Given the description of an element on the screen output the (x, y) to click on. 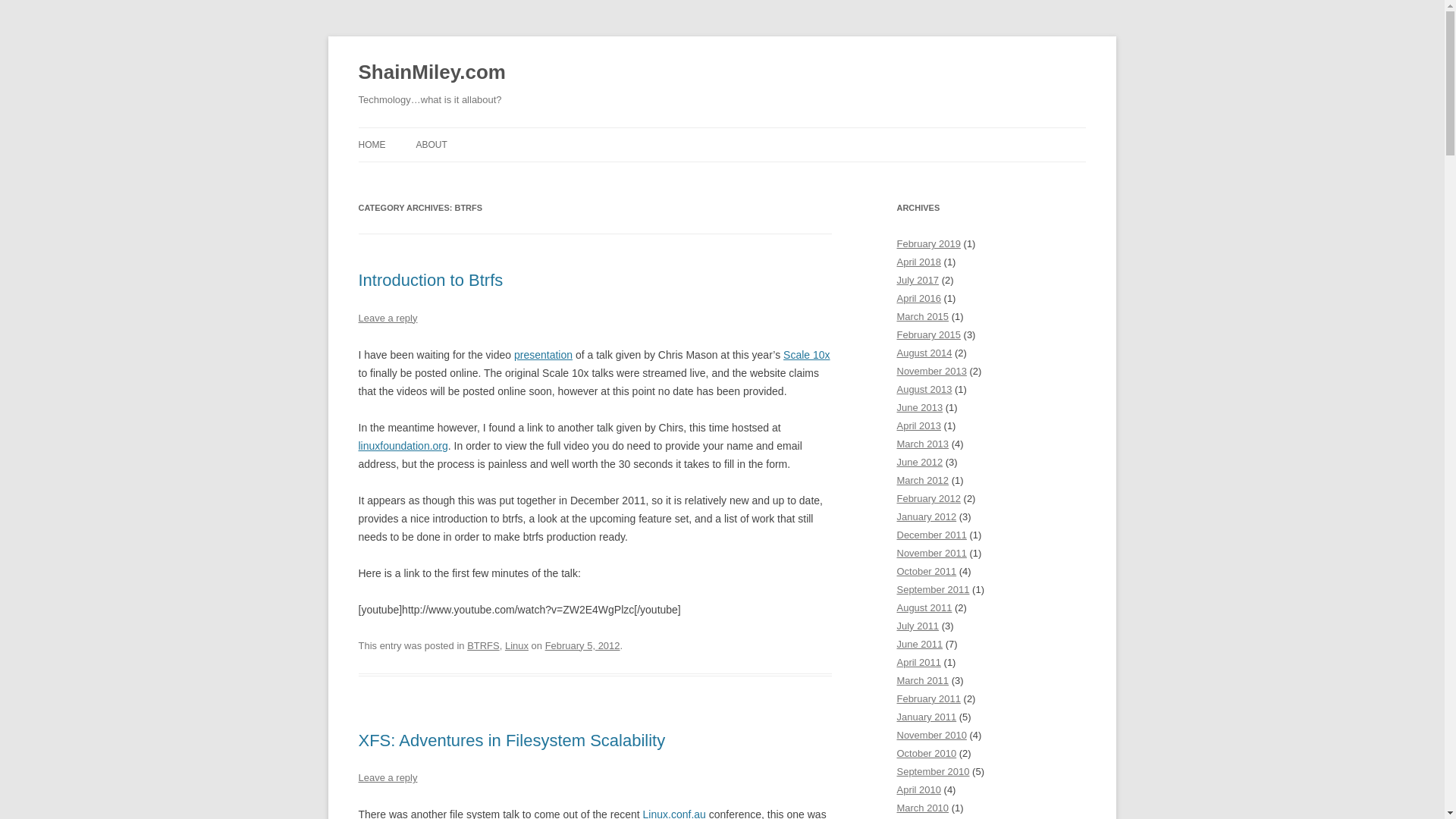
Leave a reply (387, 777)
ABOUT (430, 144)
Linux.conf.au (674, 813)
ShainMiley.com (431, 72)
Scale 10x (806, 354)
ShainMiley.com (431, 72)
Linux (516, 645)
presentation (542, 354)
8:48 pm (582, 645)
linuxfoundation.org (402, 445)
